Given the description of an element on the screen output the (x, y) to click on. 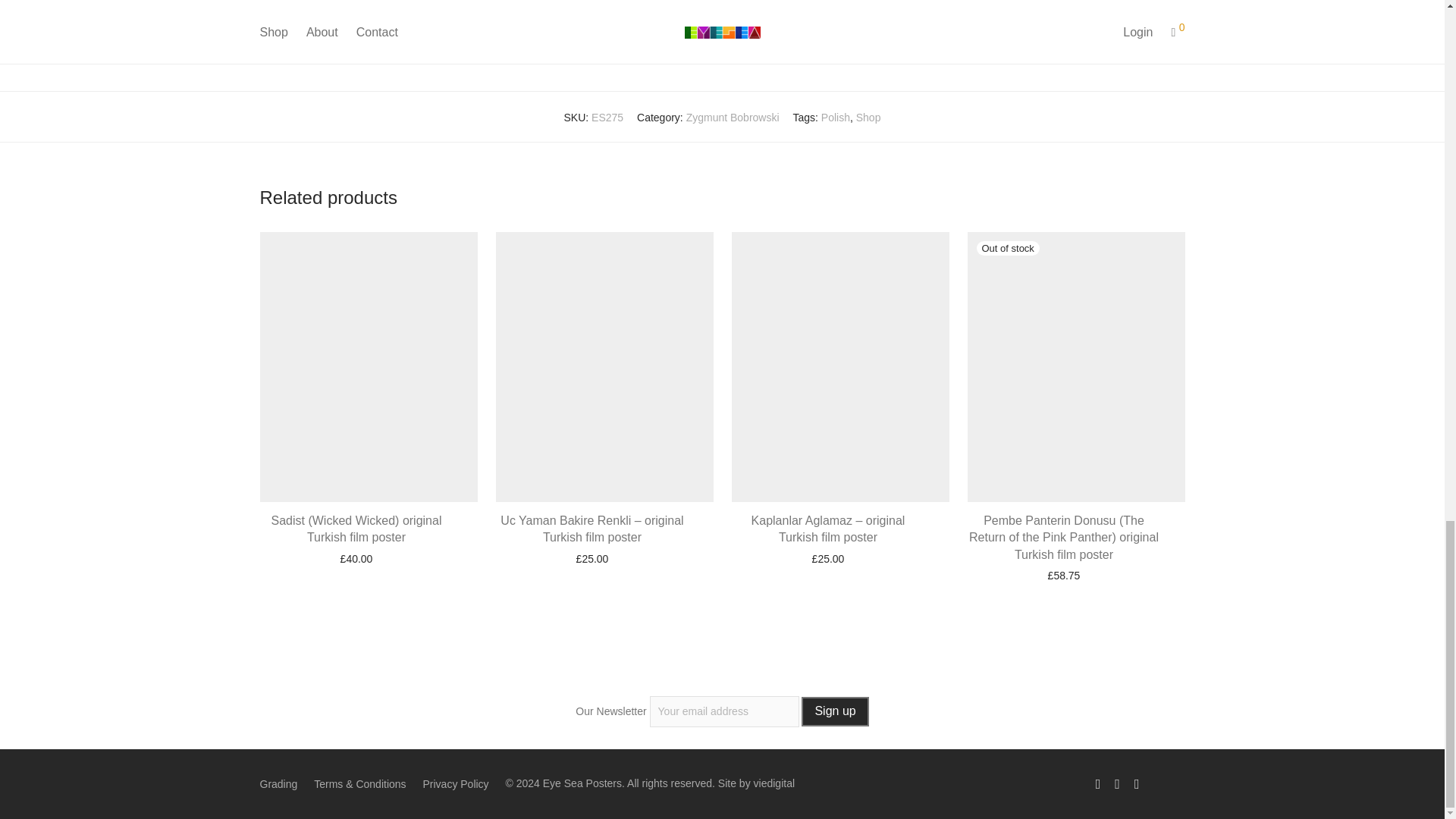
Zygmunt Bobrowski (731, 117)
Facebook (1098, 782)
Sign up (834, 711)
Instagram (1117, 782)
Shop (868, 117)
Polish (835, 117)
Submit (456, 35)
Submit (456, 35)
